Given the description of an element on the screen output the (x, y) to click on. 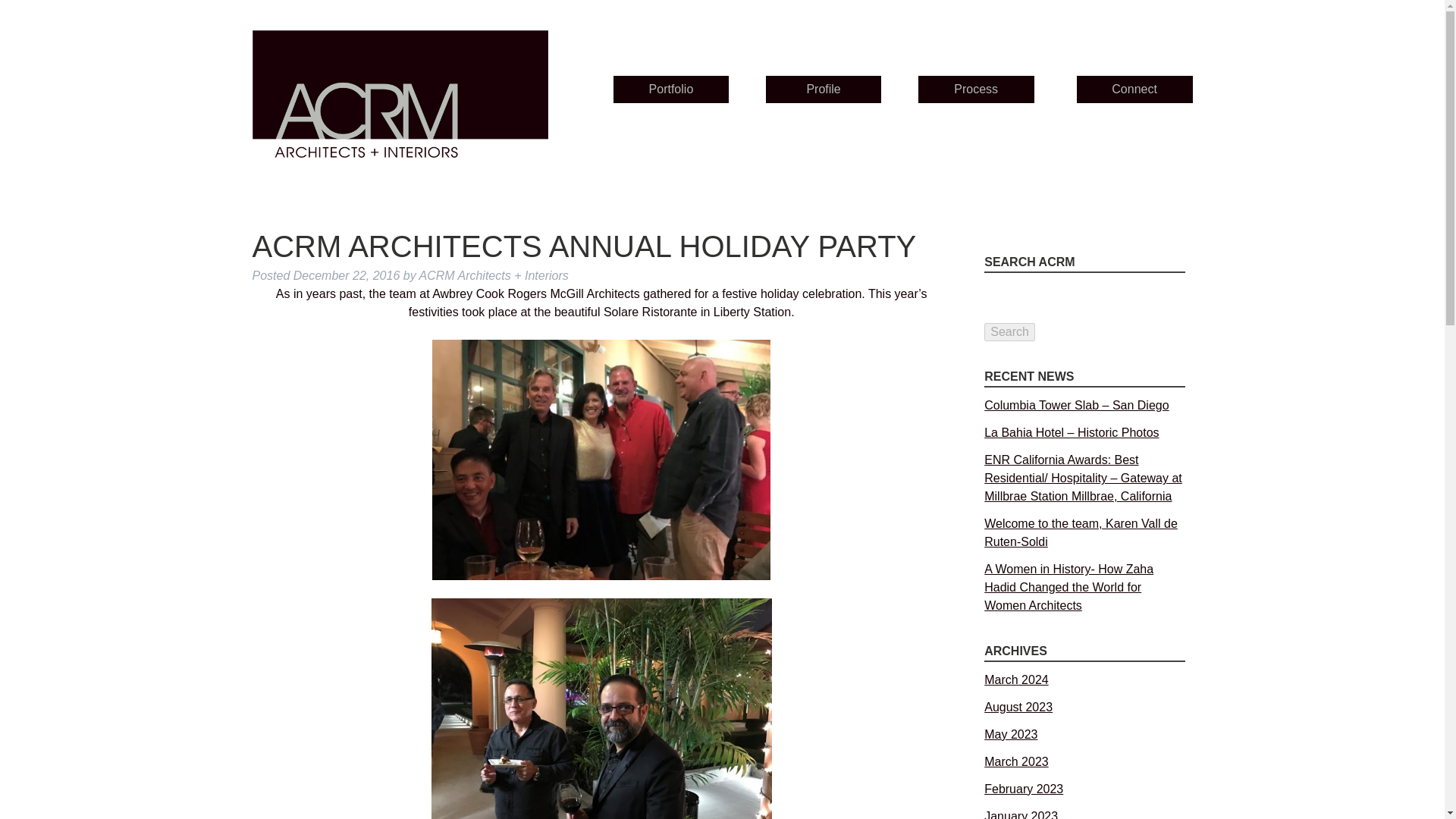
March 2023 (1016, 761)
Welcome to the team, Karen Vall de Ruten-Soldi (1080, 531)
Portfolio (670, 89)
Search (1009, 331)
February 2023 (1023, 788)
January 2023 (1021, 814)
Profile (823, 89)
May 2023 (1010, 734)
Connect (1134, 89)
Search (1009, 331)
March 2024 (1016, 679)
ACRM ARCHITECTS (399, 109)
Process (975, 89)
August 2023 (1018, 707)
